Given the description of an element on the screen output the (x, y) to click on. 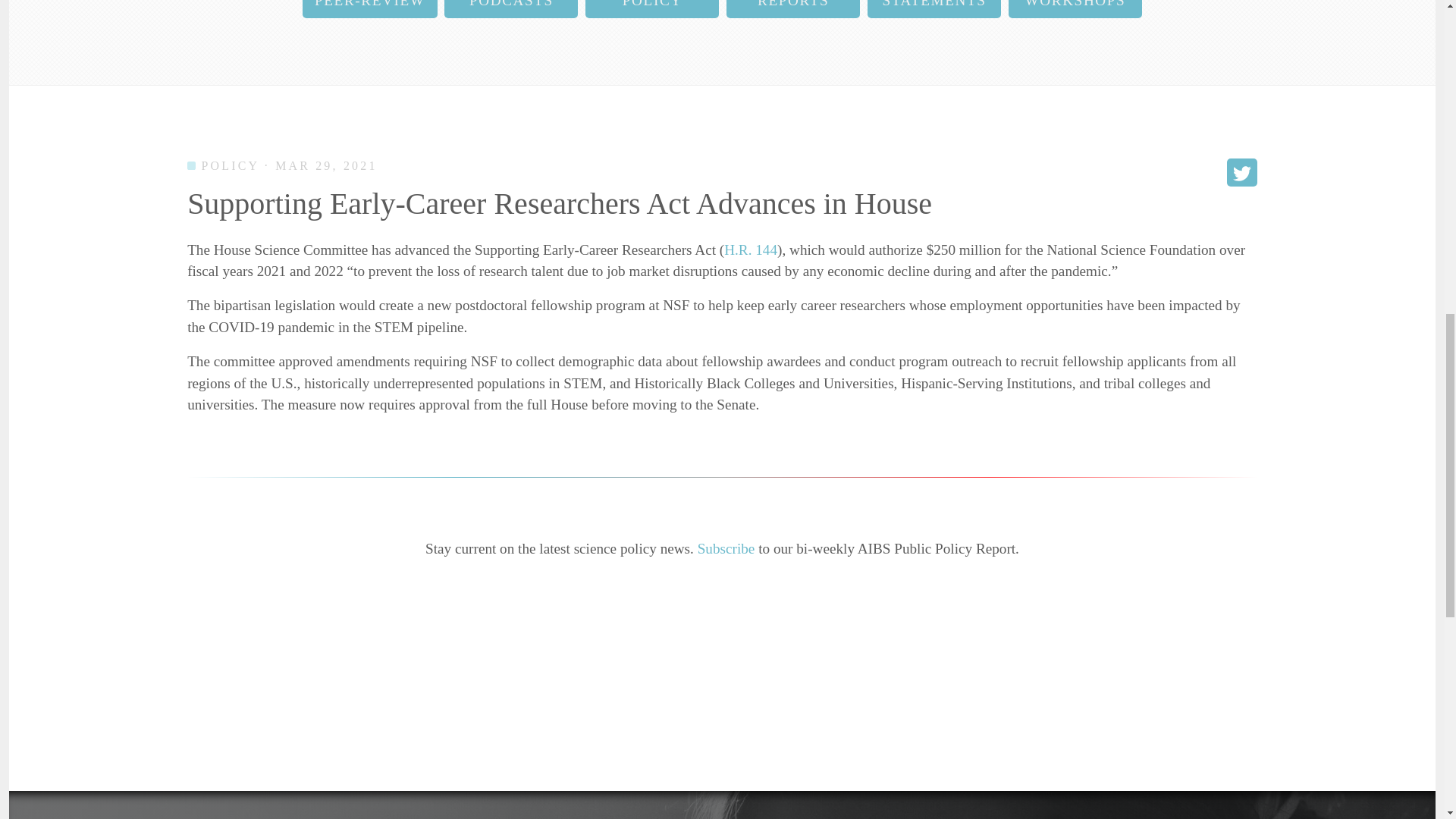
REPORTS (793, 9)
POLICY (652, 9)
PODCASTS (511, 9)
WORKSHOPS (1075, 9)
PEER-REVIEW (370, 9)
STATEMENTS (934, 9)
Share on Twitter (1242, 172)
H.R. 144 (750, 249)
Subscribe (726, 548)
